Given the description of an element on the screen output the (x, y) to click on. 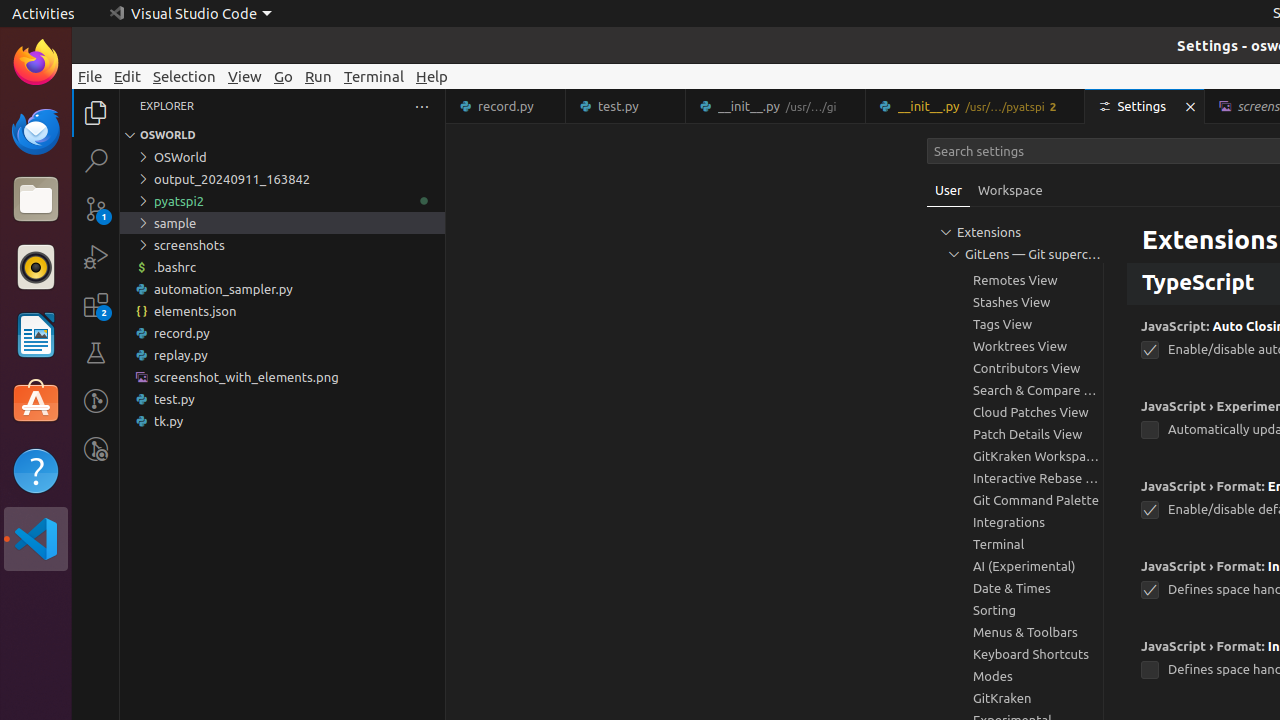
javascript.experimental.updateImportsOnPaste Element type: check-box (1150, 430)
automation_sampler.py Element type: tree-item (282, 289)
elements.json Element type: tree-item (282, 311)
Extensions (Ctrl+Shift+X) - 2 require restart Extensions (Ctrl+Shift+X) - 2 require restart Element type: page-tab (96, 305)
screenshots Element type: tree-item (282, 245)
